Given the description of an element on the screen output the (x, y) to click on. 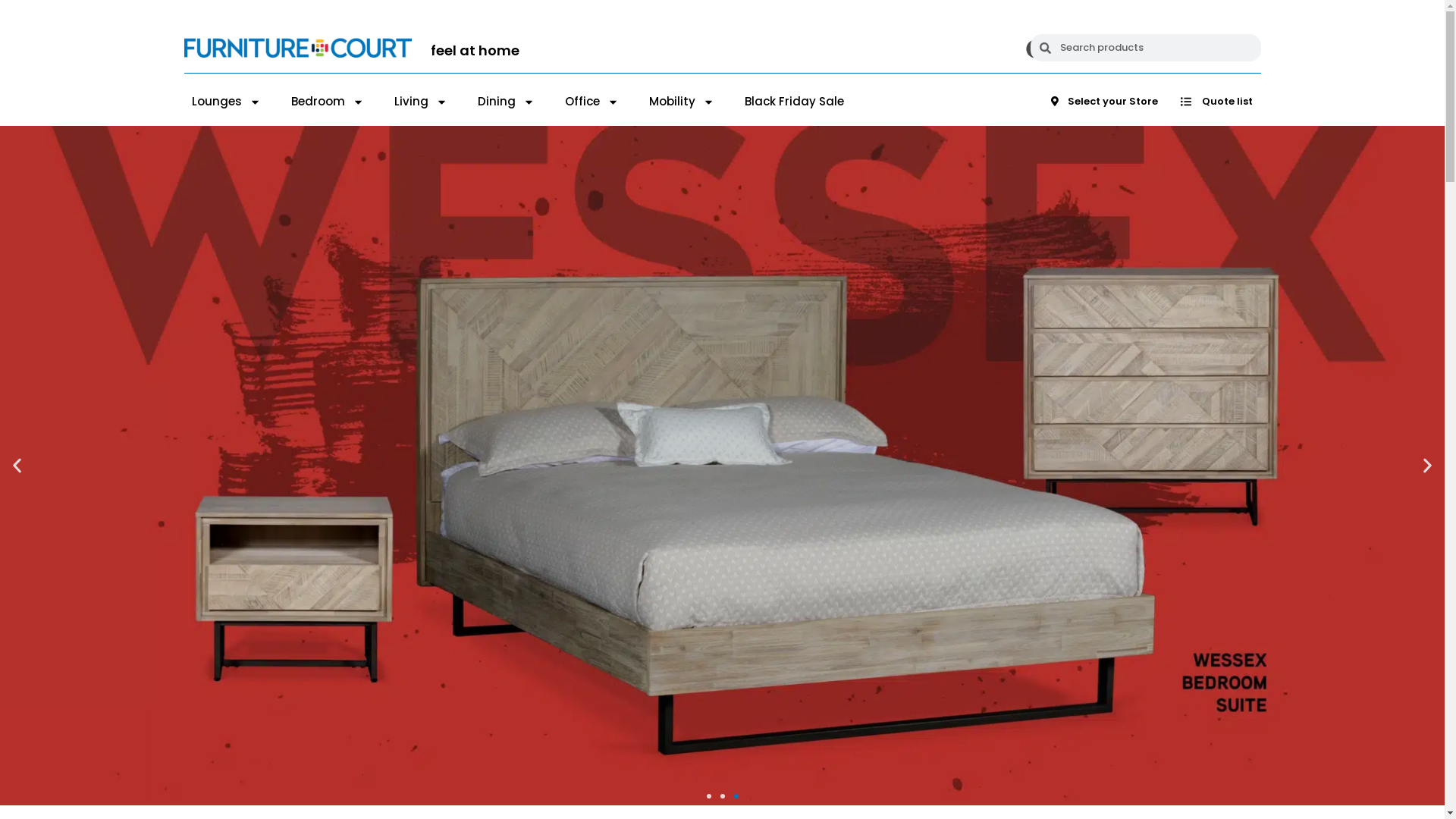
Dining Element type: text (505, 101)
Living Element type: text (420, 101)
Bedroom Element type: text (327, 101)
Mobility Element type: text (681, 101)
Black Friday Sale Element type: text (794, 101)
Lounges Element type: text (225, 101)
Office Element type: text (591, 101)
Select your Store Element type: text (1104, 101)
Quote list Element type: text (1216, 101)
